Given the description of an element on the screen output the (x, y) to click on. 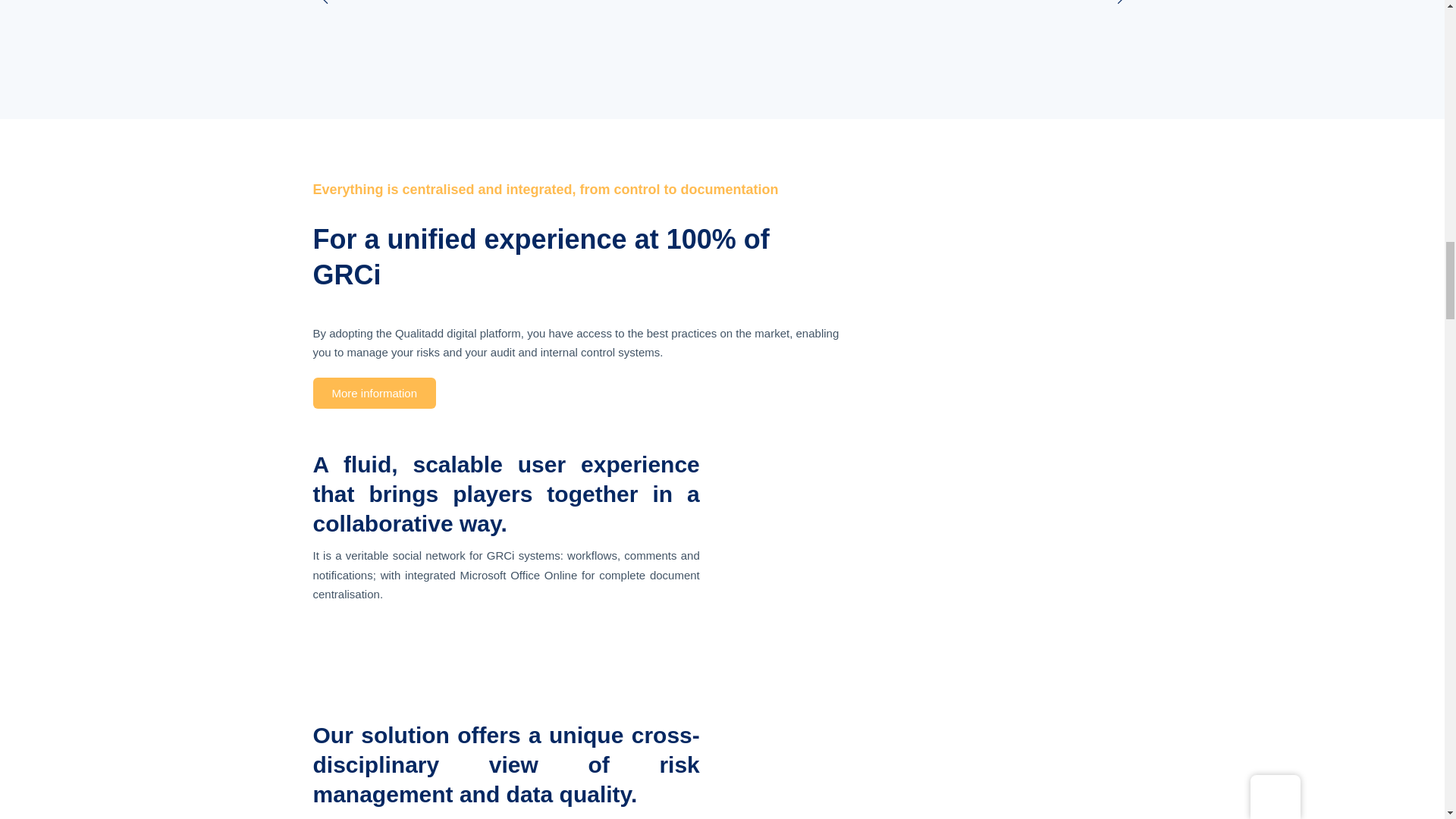
More information (374, 393)
